Given the description of an element on the screen output the (x, y) to click on. 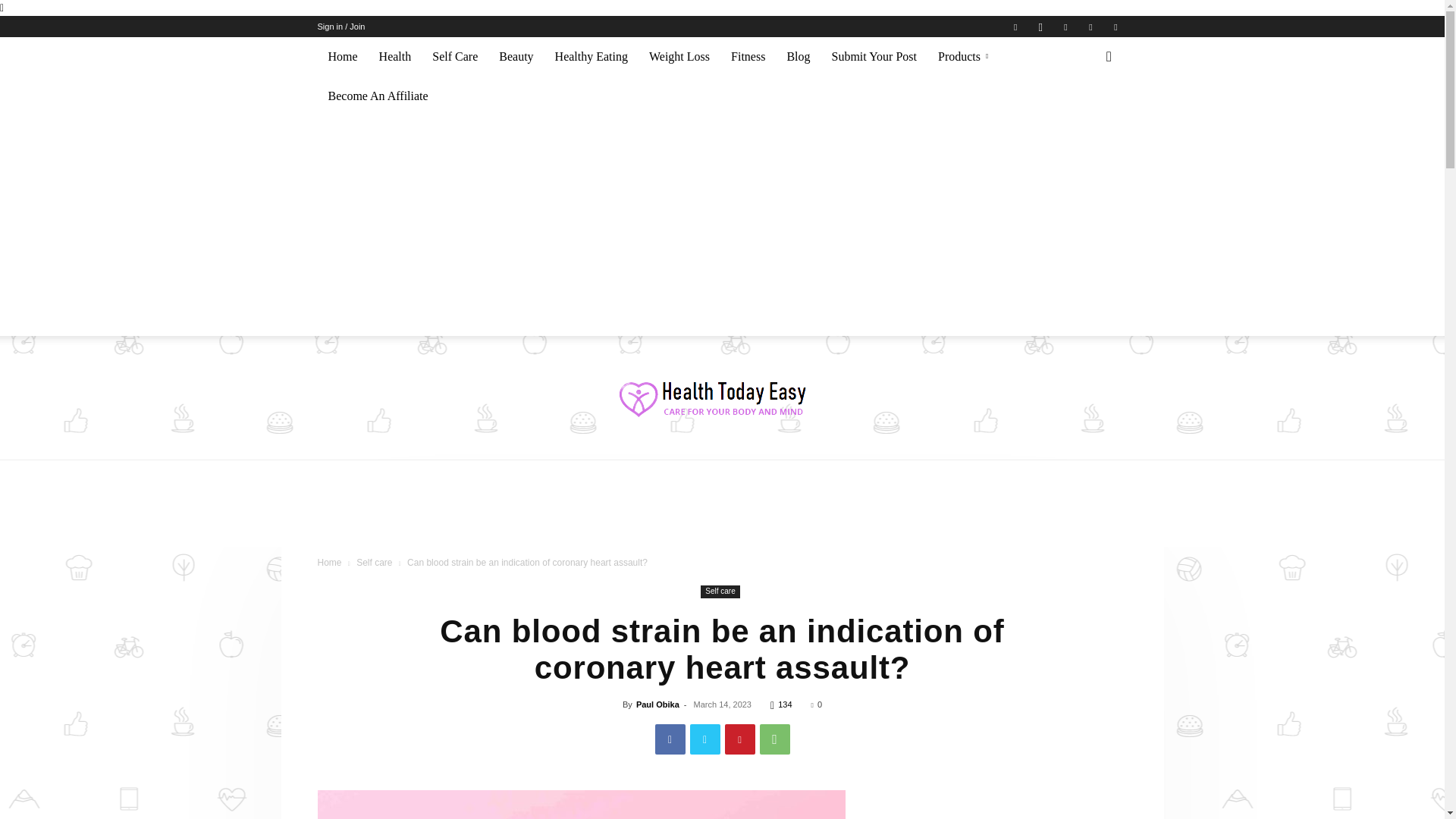
Healthy Eating (591, 56)
Advertisement (721, 512)
Self Care (454, 56)
Health (395, 56)
Facebook (1015, 25)
Vimeo (1090, 25)
Weight Loss (679, 56)
Twitter (1065, 25)
Home (342, 56)
Youtube (1114, 25)
Fitness (748, 56)
